Given the description of an element on the screen output the (x, y) to click on. 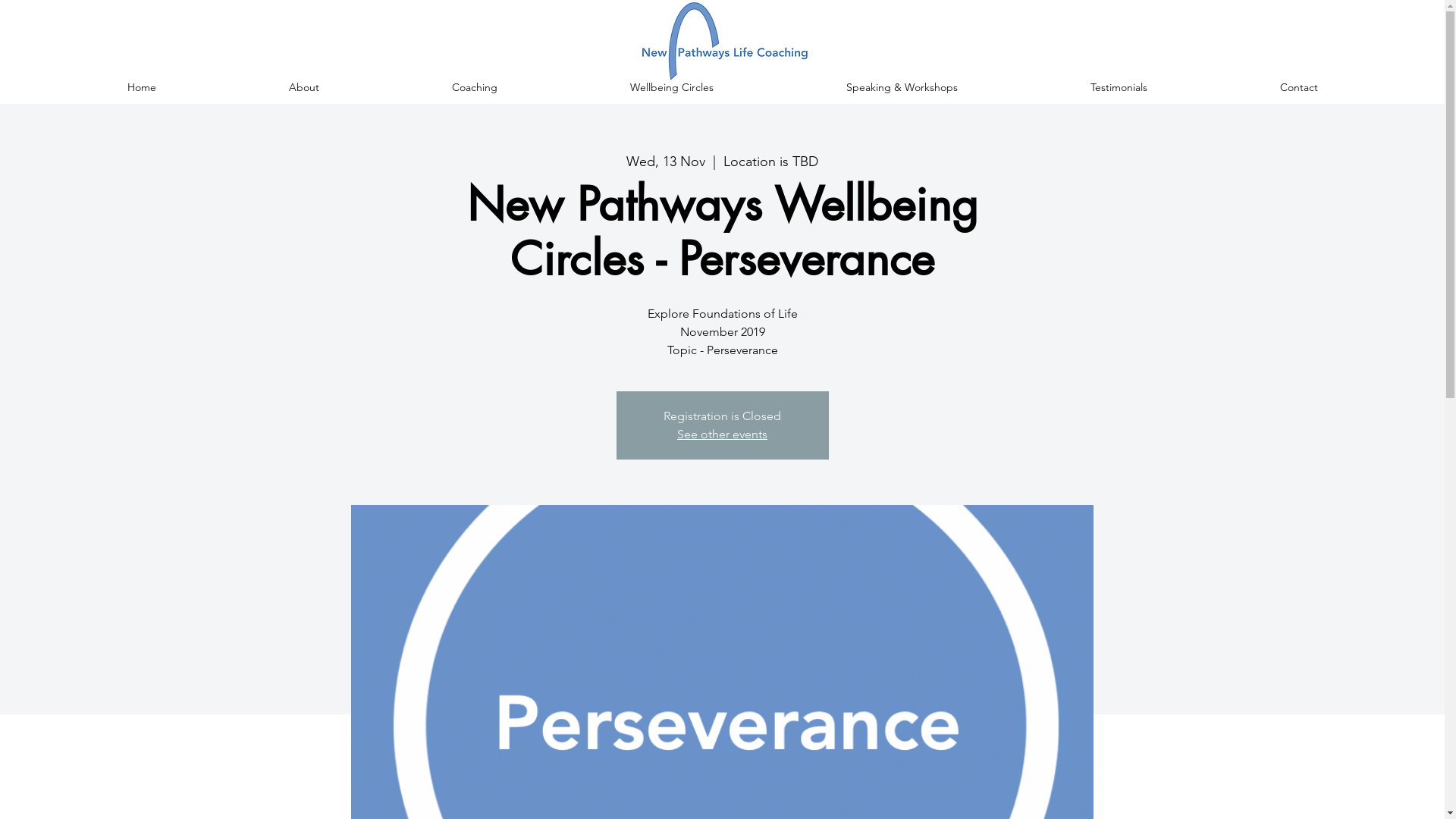
Contact Element type: text (1298, 86)
Testimonials Element type: text (1118, 86)
Home Element type: text (141, 86)
Speaking & Workshops Element type: text (901, 86)
Screen Shot 2018-06-15 at 11.18.48 am.png Element type: hover (721, 40)
See other events Element type: text (722, 433)
About Element type: text (303, 86)
Wellbeing Circles Element type: text (671, 86)
Coaching Element type: text (474, 86)
